Given the description of an element on the screen output the (x, y) to click on. 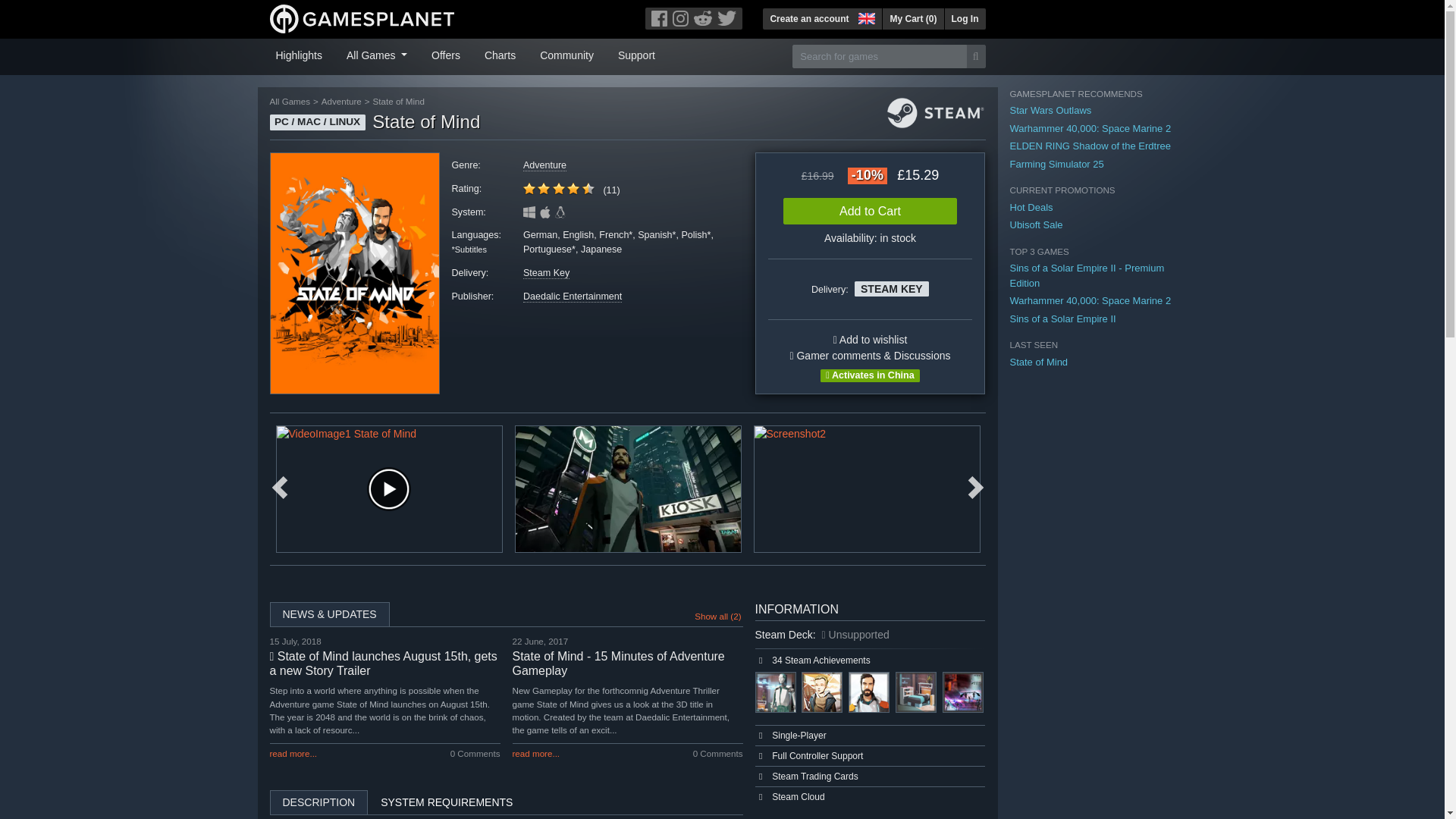
good (573, 188)
Achievement: Depressive Weekend (868, 691)
good (558, 188)
good (528, 188)
Achievement: Welcome home, Sir (775, 691)
Highlights (299, 53)
Create an account (809, 18)
Achievement: Enjoy This Sunny Day (822, 691)
Log In (964, 18)
Achievement: The System Strikes Back (963, 691)
